Given the description of an element on the screen output the (x, y) to click on. 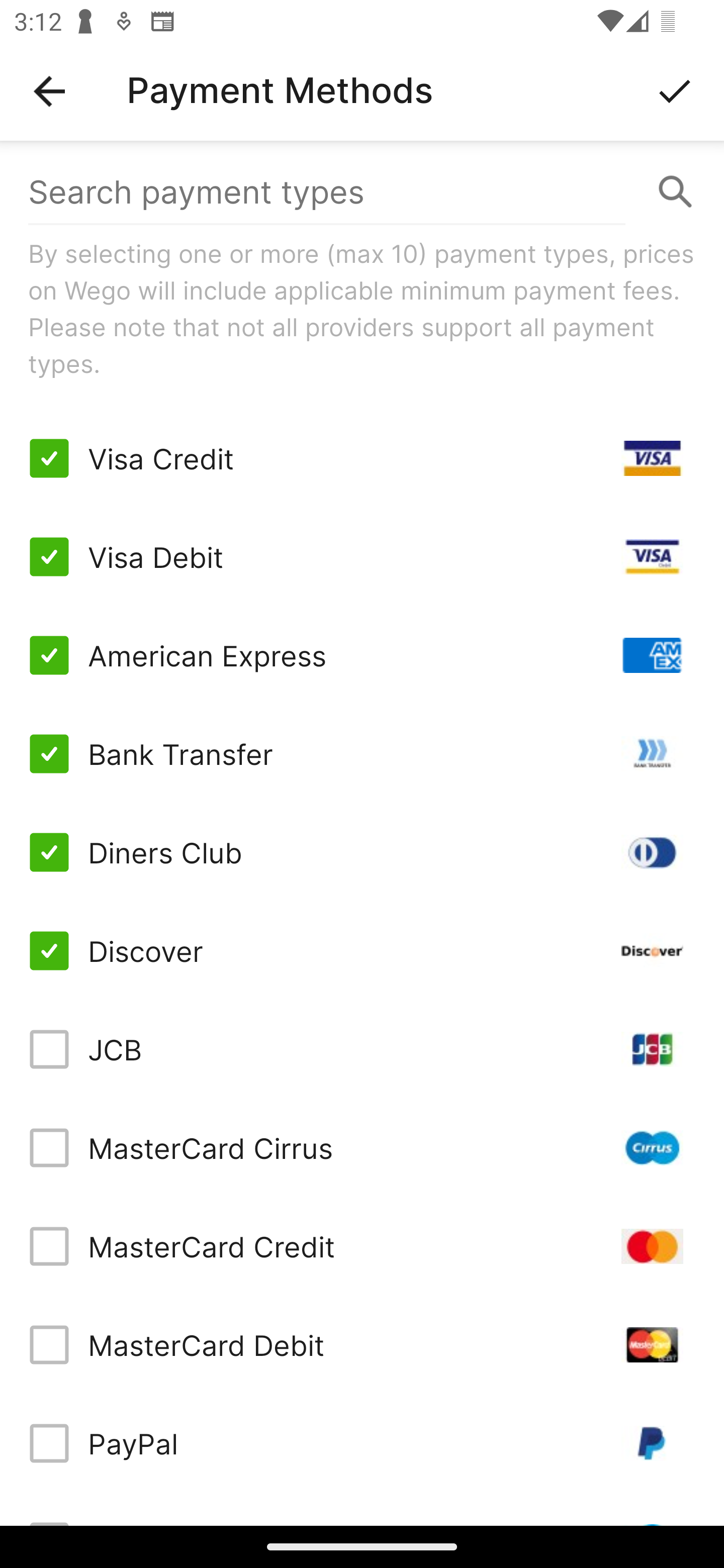
Search payment types  (361, 191)
Visa Credit (362, 458)
Visa Debit (362, 557)
American Express (362, 655)
Bank Transfer (362, 753)
Diners Club (362, 851)
Discover (362, 950)
JCB (362, 1049)
MasterCard Cirrus (362, 1147)
MasterCard Credit (362, 1245)
MasterCard Debit (362, 1344)
PayPal (362, 1442)
